Given the description of an element on the screen output the (x, y) to click on. 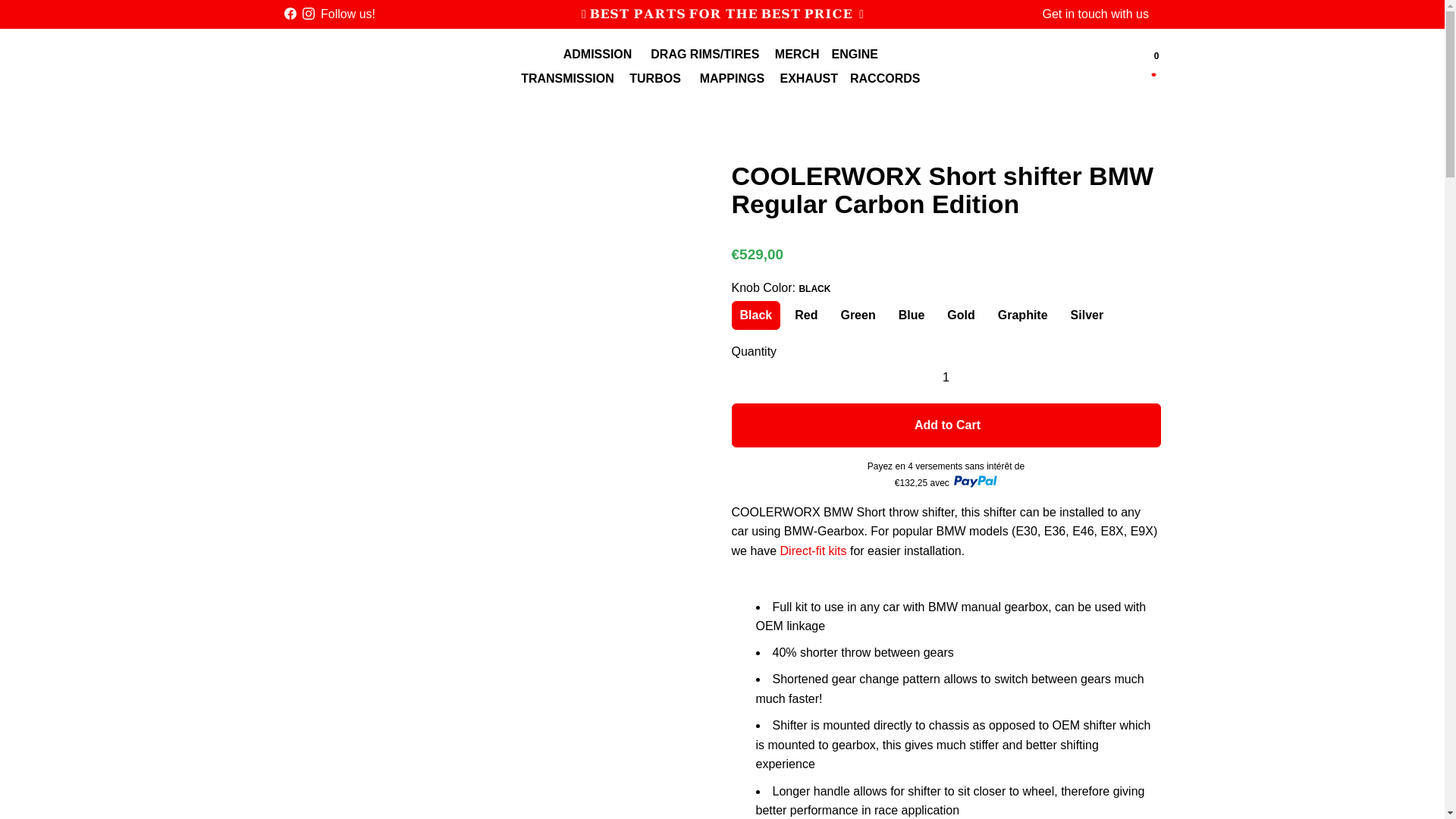
MF PERFORMANCE on Facebook (289, 13)
MERCH (796, 54)
ADMISSION (599, 54)
ENGINE (856, 54)
MF PERFORMANCE on Instagram (307, 13)
TURBOS (656, 78)
